Given the description of an element on the screen output the (x, y) to click on. 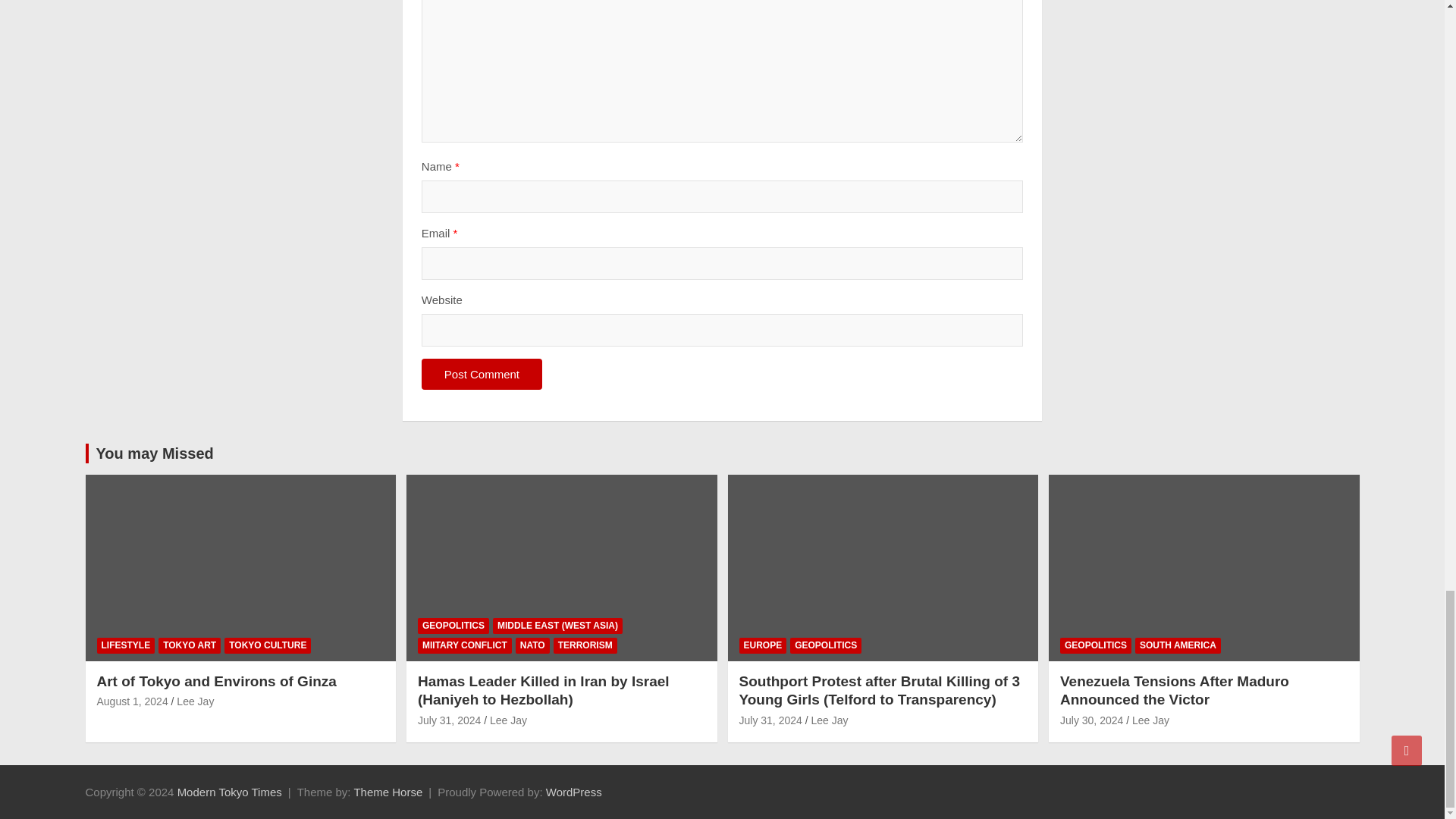
Art of Tokyo and Environs of Ginza (132, 701)
Venezuela Tensions After Maduro Announced the Victor (1090, 720)
Theme Horse (387, 791)
Modern Tokyo Times (229, 791)
WordPress (574, 791)
Post Comment (481, 373)
